Given the description of an element on the screen output the (x, y) to click on. 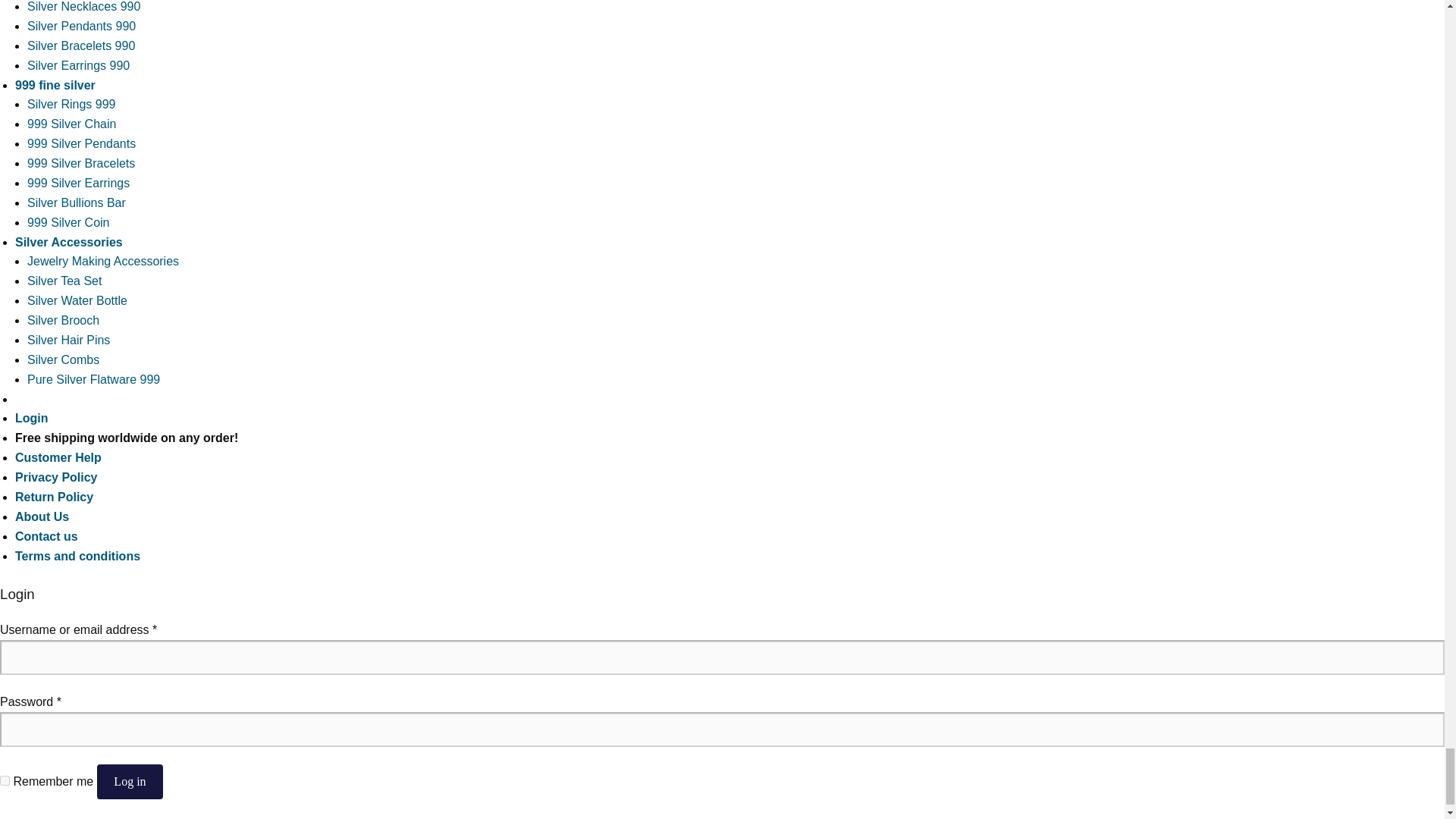
Login (31, 418)
forever (5, 780)
